Given the description of an element on the screen output the (x, y) to click on. 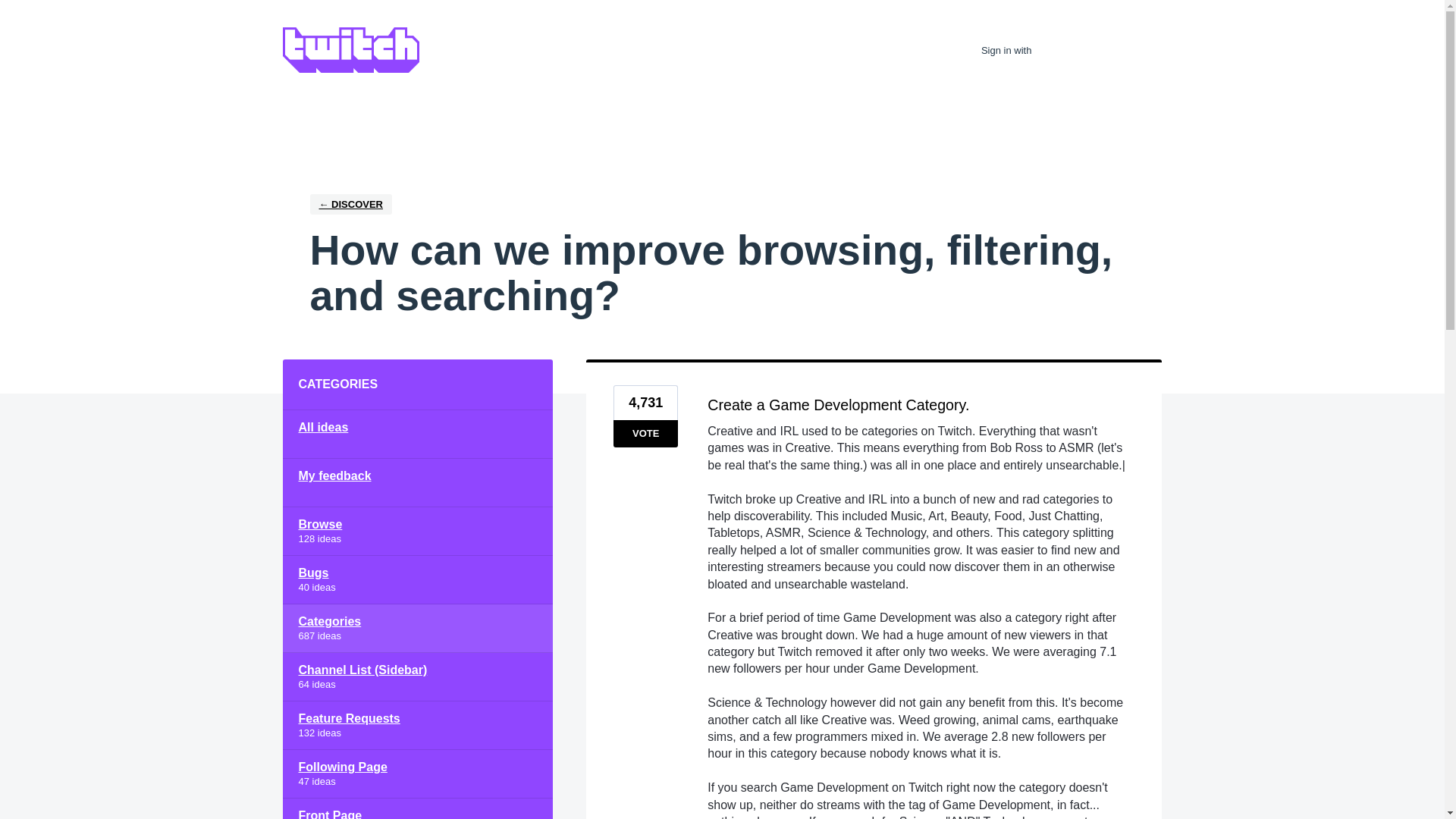
Following Page (417, 774)
View all ideas in category Categories  (417, 628)
View all ideas in category Browse (417, 531)
Front Page (417, 808)
View all ideas in category Front Page (417, 808)
View all ideas in category Feature Requests (417, 725)
Feature Requests (417, 725)
All ideas (417, 434)
My feedback (417, 482)
View all ideas in category Following Page (417, 774)
Bugs (417, 580)
View all ideas in category Bugs (417, 580)
Twitch UserVoice (350, 49)
Categories (417, 628)
Browse (417, 531)
